Given the description of an element on the screen output the (x, y) to click on. 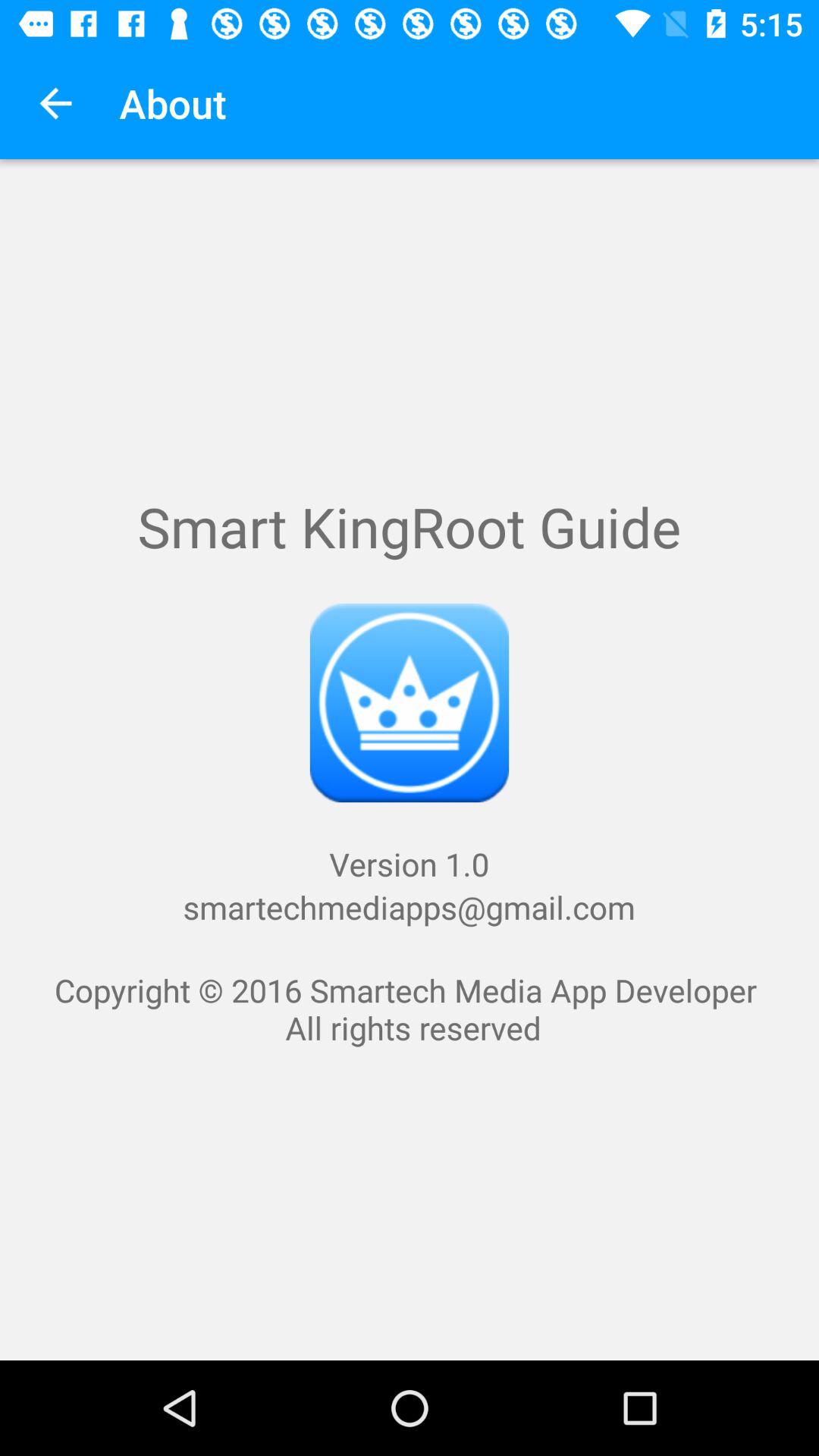
turn off icon above copyright 2016 smartech (55, 103)
